Given the description of an element on the screen output the (x, y) to click on. 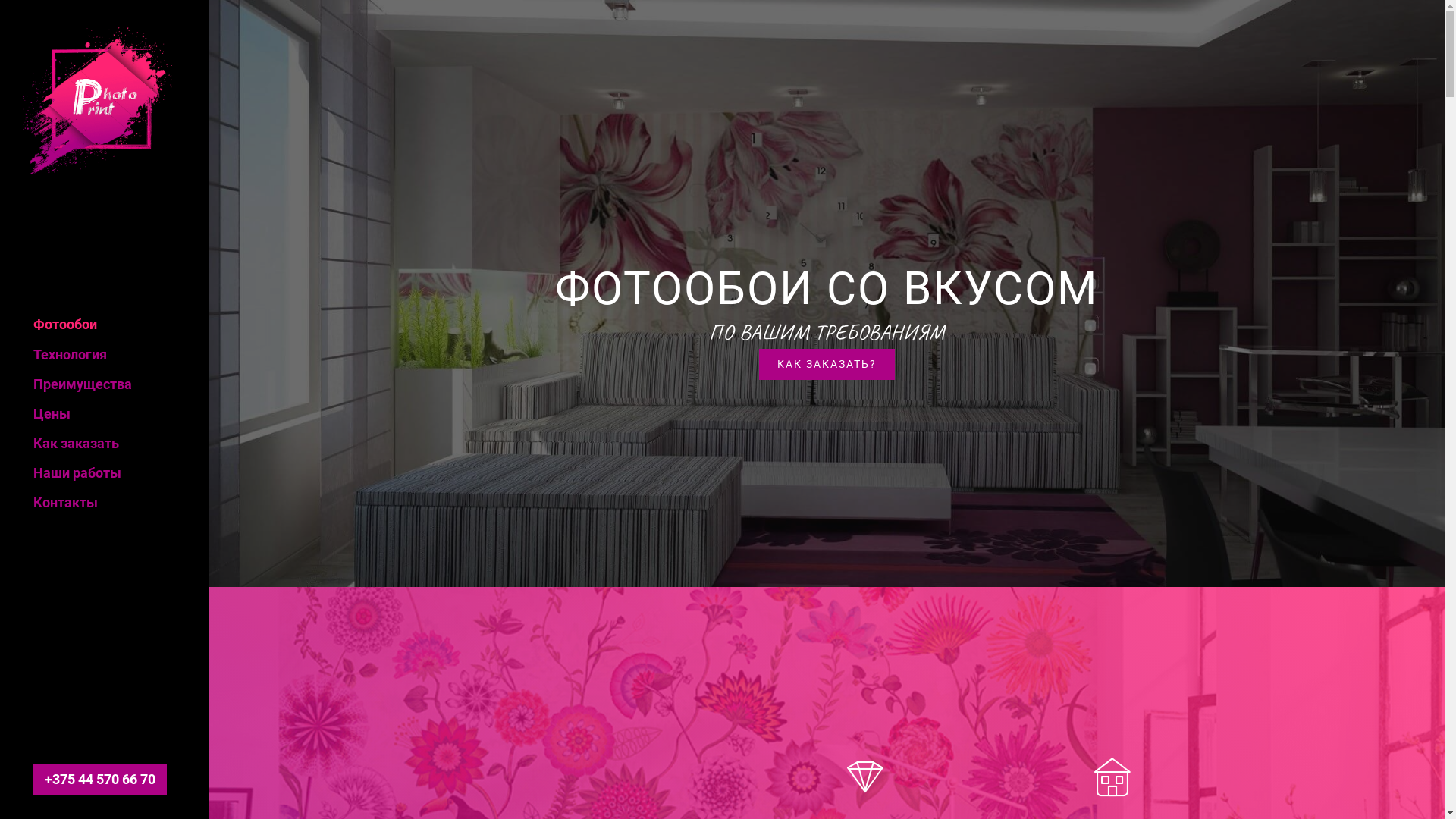
+375 44 570 66 70 Element type: text (99, 778)
